Given the description of an element on the screen output the (x, y) to click on. 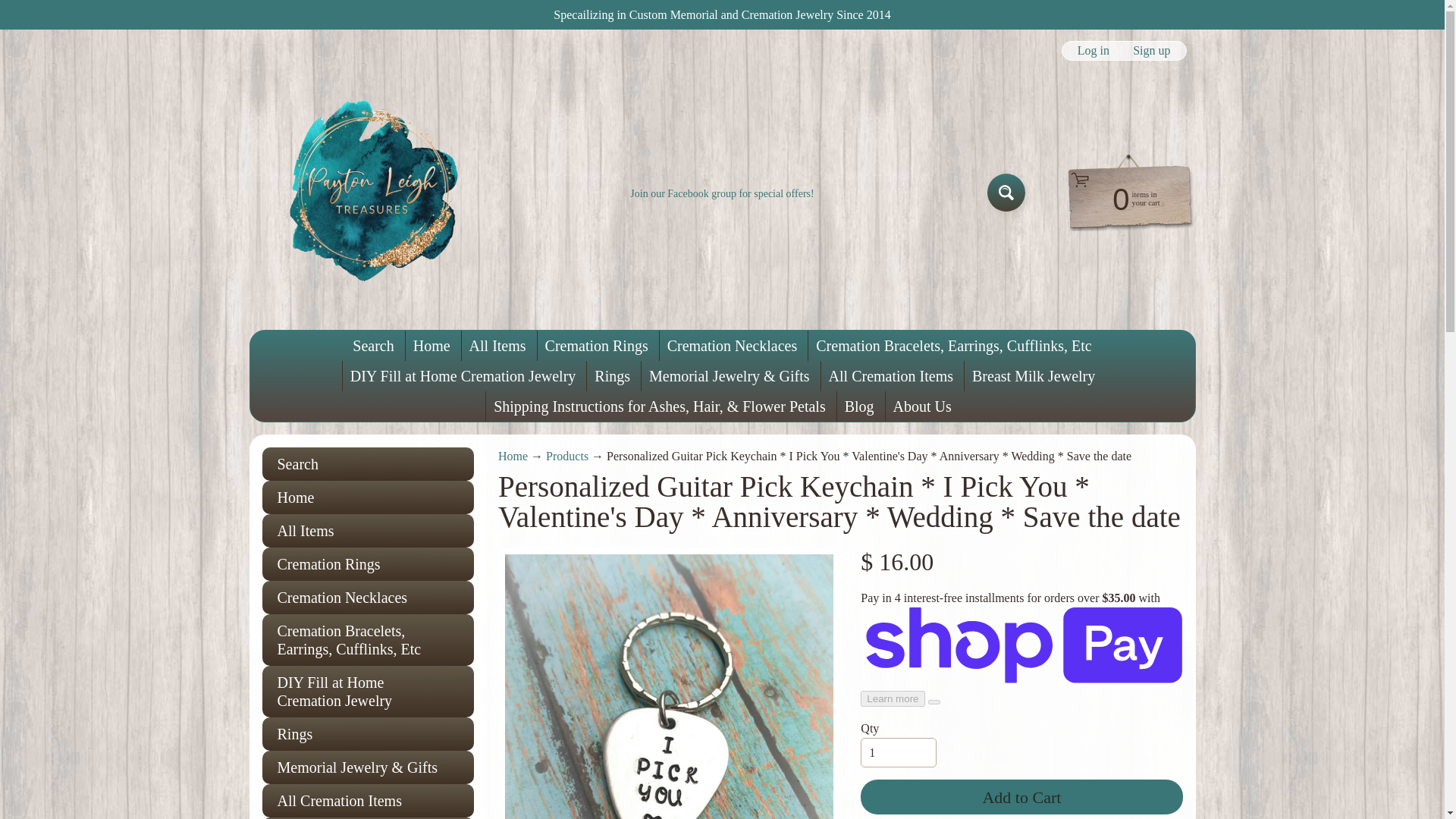
Blog (859, 406)
Sign up (1151, 50)
Cremation Necklaces (732, 345)
Rings (368, 734)
Payton Leigh Treasures  (373, 192)
Join our Facebook group for special offers! (721, 194)
Cremation Bracelets, Earrings, Cufflinks, Etc (953, 345)
Log in (1093, 50)
All Cremation Items (890, 376)
